Given the description of an element on the screen output the (x, y) to click on. 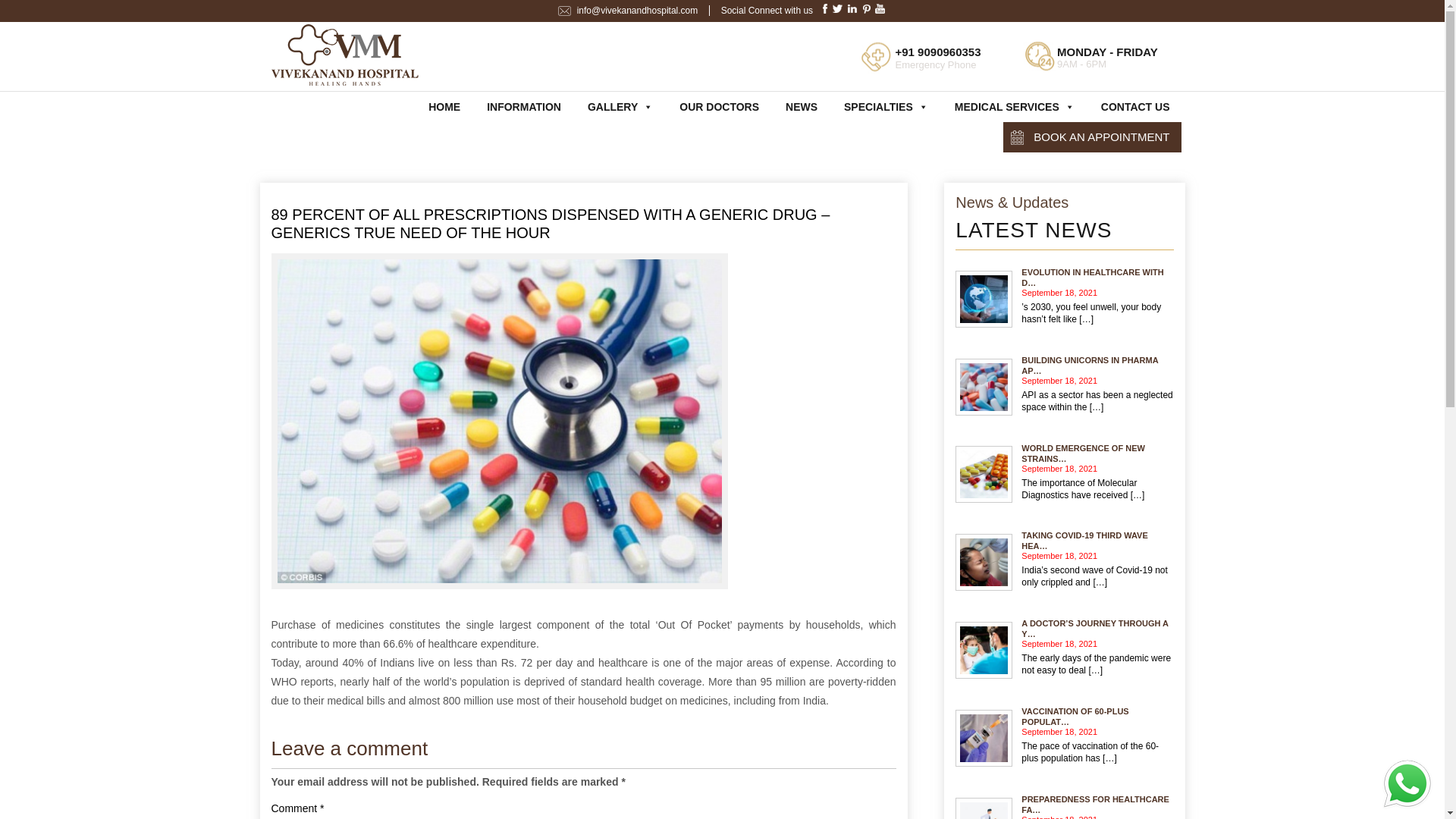
MEDICAL SERVICES (1014, 106)
GALLERY (619, 106)
SPECIALTIES (885, 106)
INFORMATION (524, 106)
NEWS (801, 106)
OUR DOCTORS (719, 106)
HOME (443, 106)
